Given the description of an element on the screen output the (x, y) to click on. 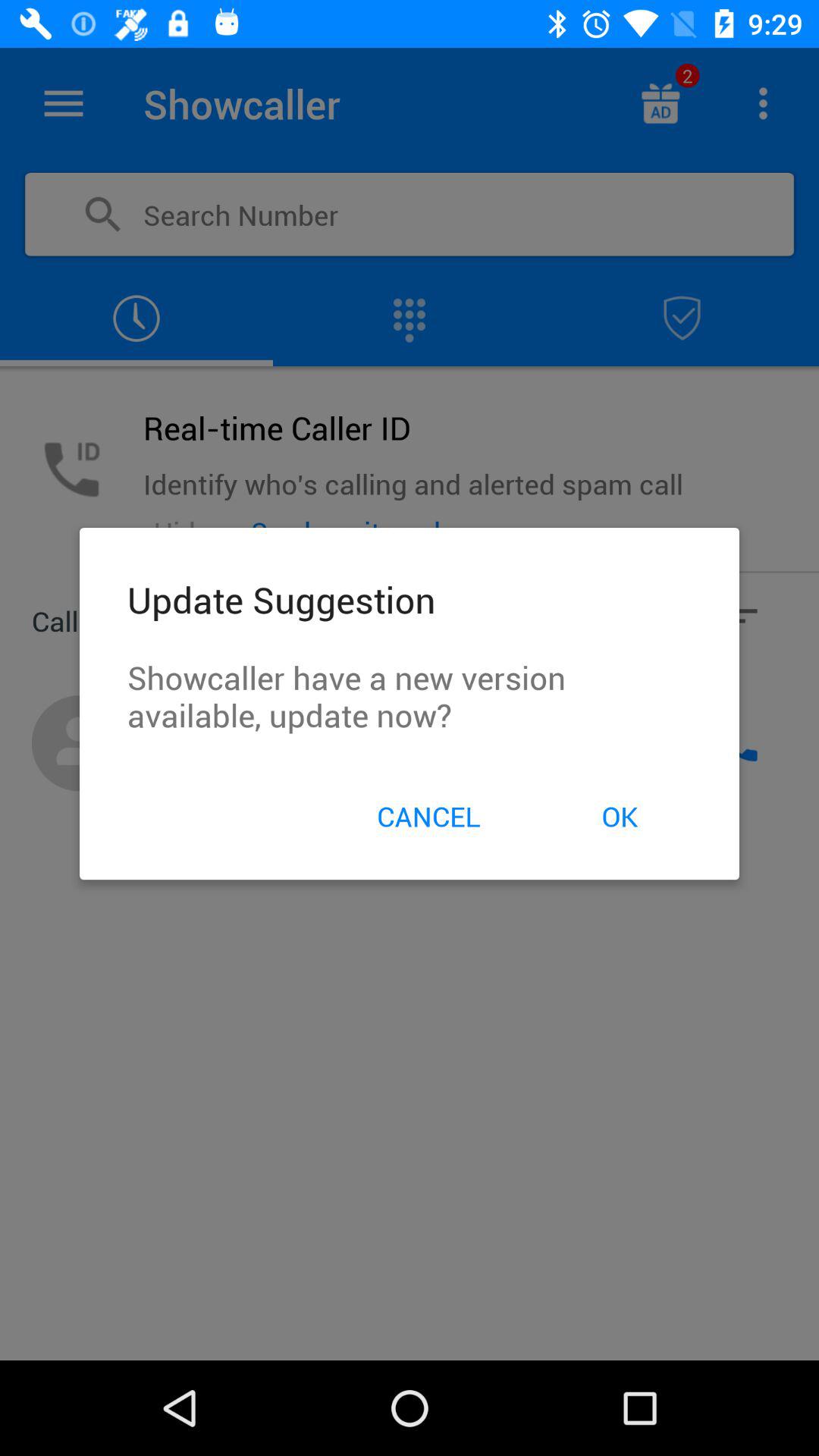
jump until the ok item (619, 815)
